Given the description of an element on the screen output the (x, y) to click on. 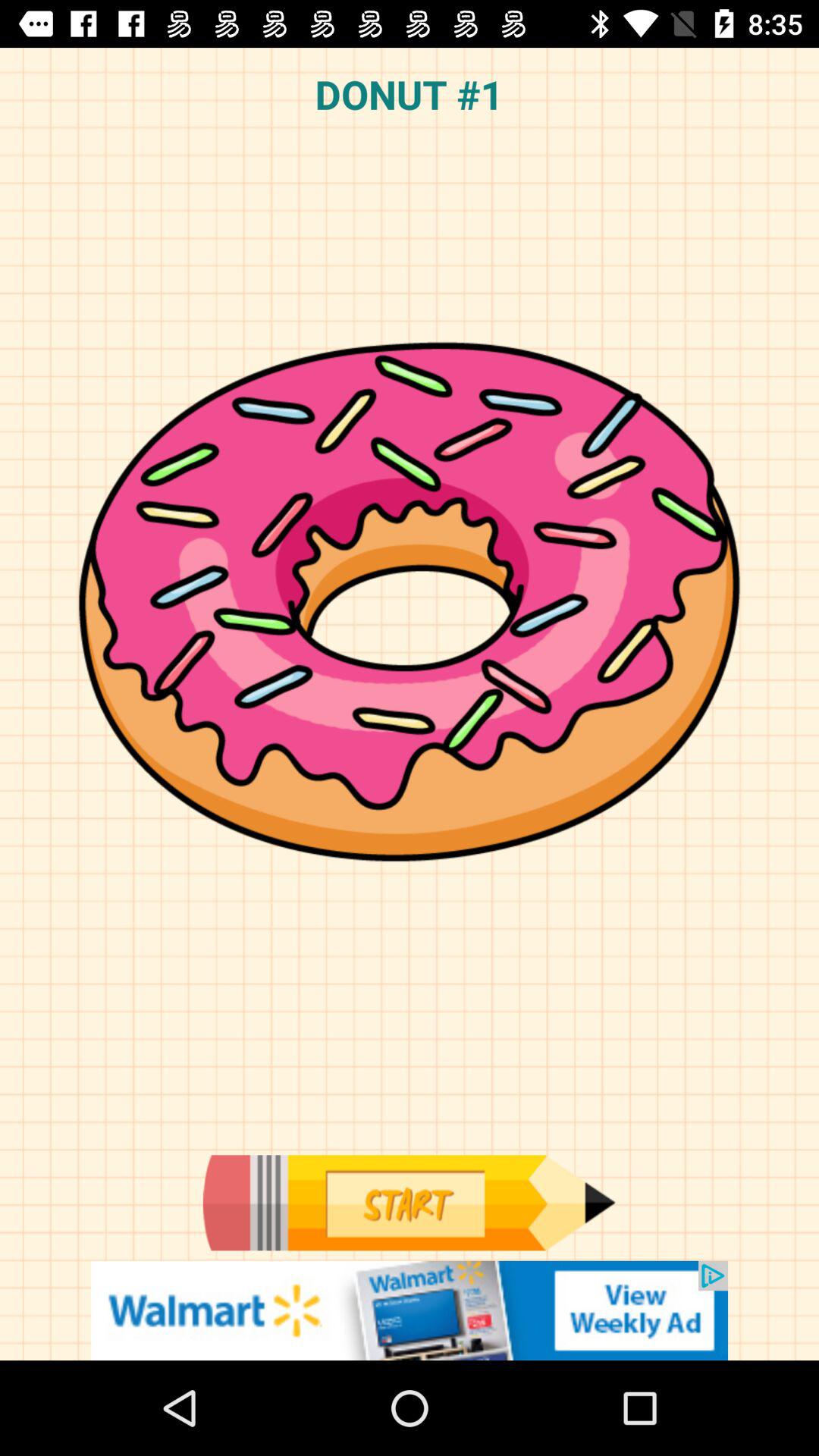
start drawing (409, 1202)
